Given the description of an element on the screen output the (x, y) to click on. 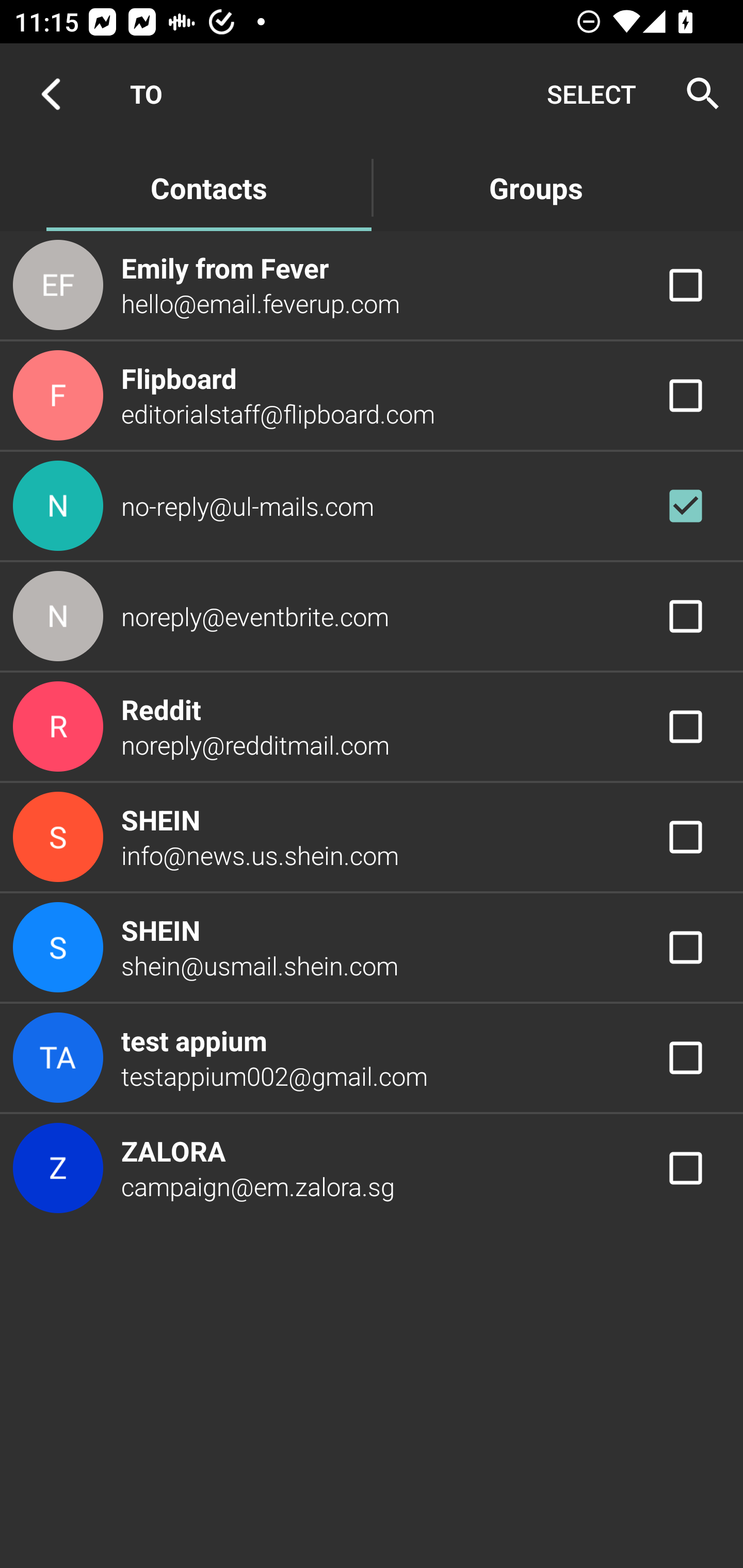
Navigate up (50, 93)
SELECT (590, 93)
Search (696, 93)
Contacts (208, 187)
Groups (535, 187)
Emily from Fever hello@email.feverup.com (371, 284)
Flipboard editorialstaff@flipboard.com (371, 395)
no-reply@ul-mails.com (371, 505)
noreply@eventbrite.com (371, 616)
Reddit noreply@redditmail.com (371, 726)
SHEIN info@news.us.shein.com (371, 836)
SHEIN shein@usmail.shein.com (371, 947)
test appium testappium002@gmail.com (371, 1057)
ZALORA campaign@em.zalora.sg (371, 1168)
